Given the description of an element on the screen output the (x, y) to click on. 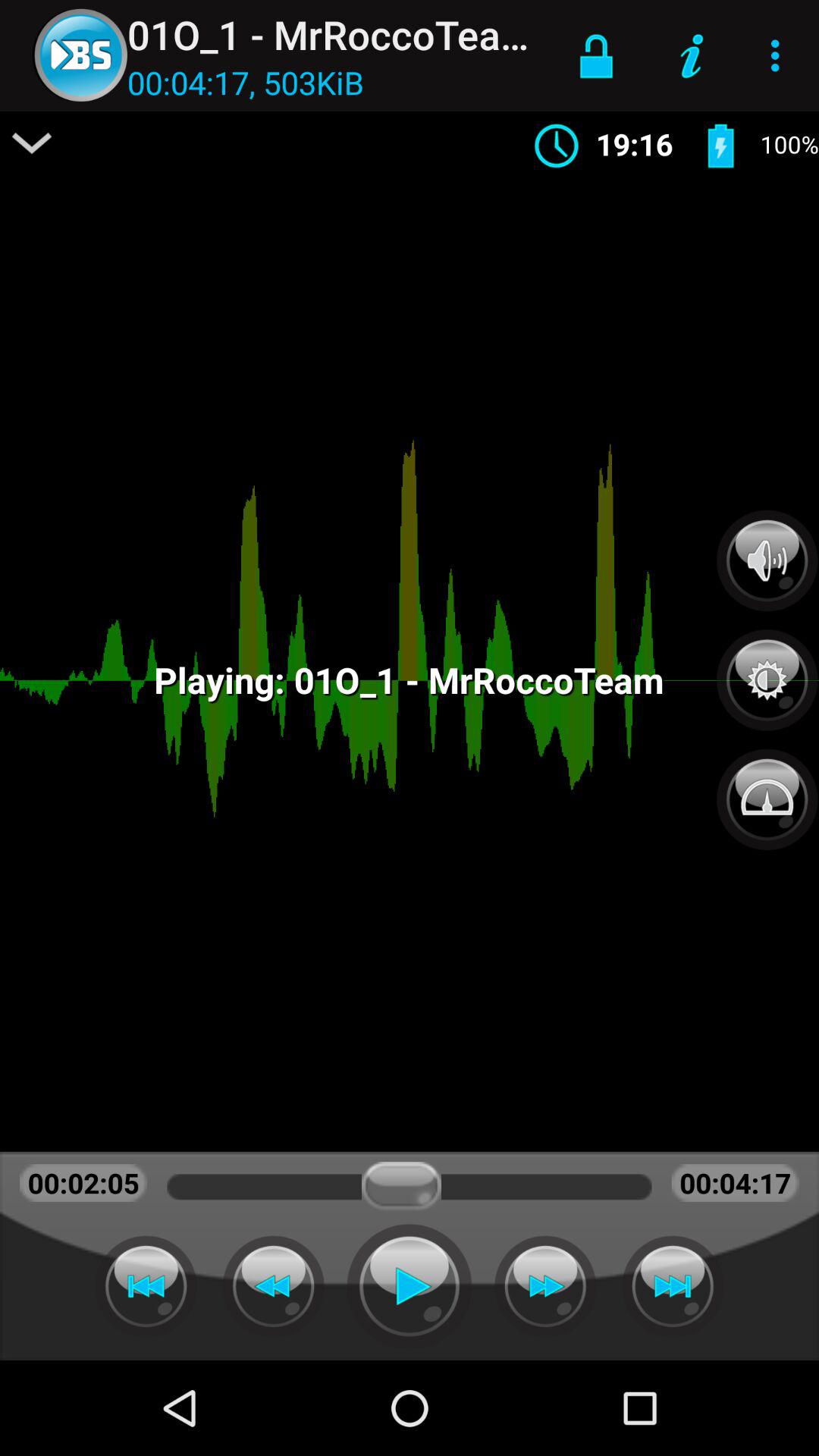
start playing (409, 1286)
